Given the description of an element on the screen output the (x, y) to click on. 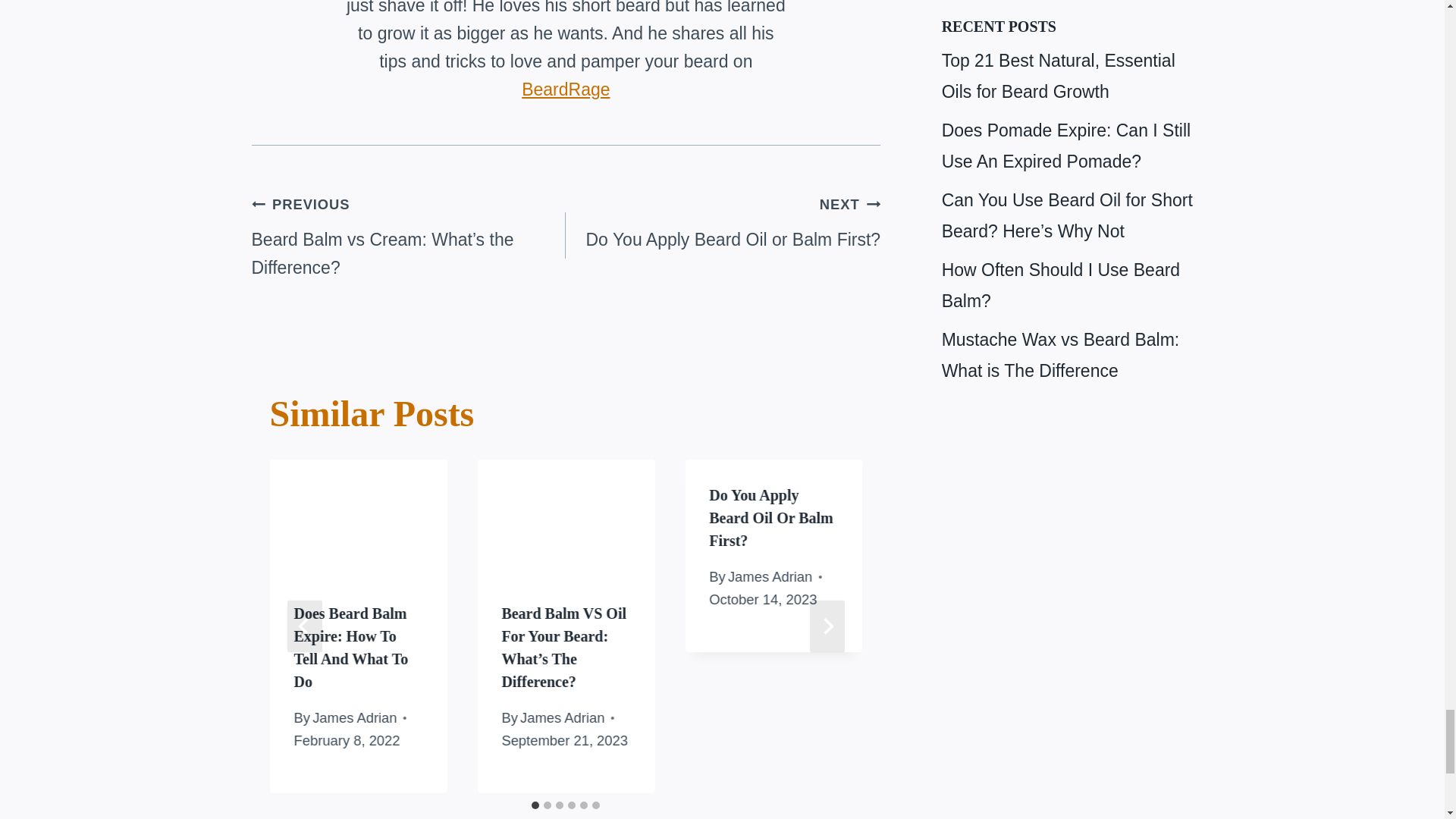
Does Beard Balm Expire: How to Tell and What to Do 1 (357, 518)
